Given the description of an element on the screen output the (x, y) to click on. 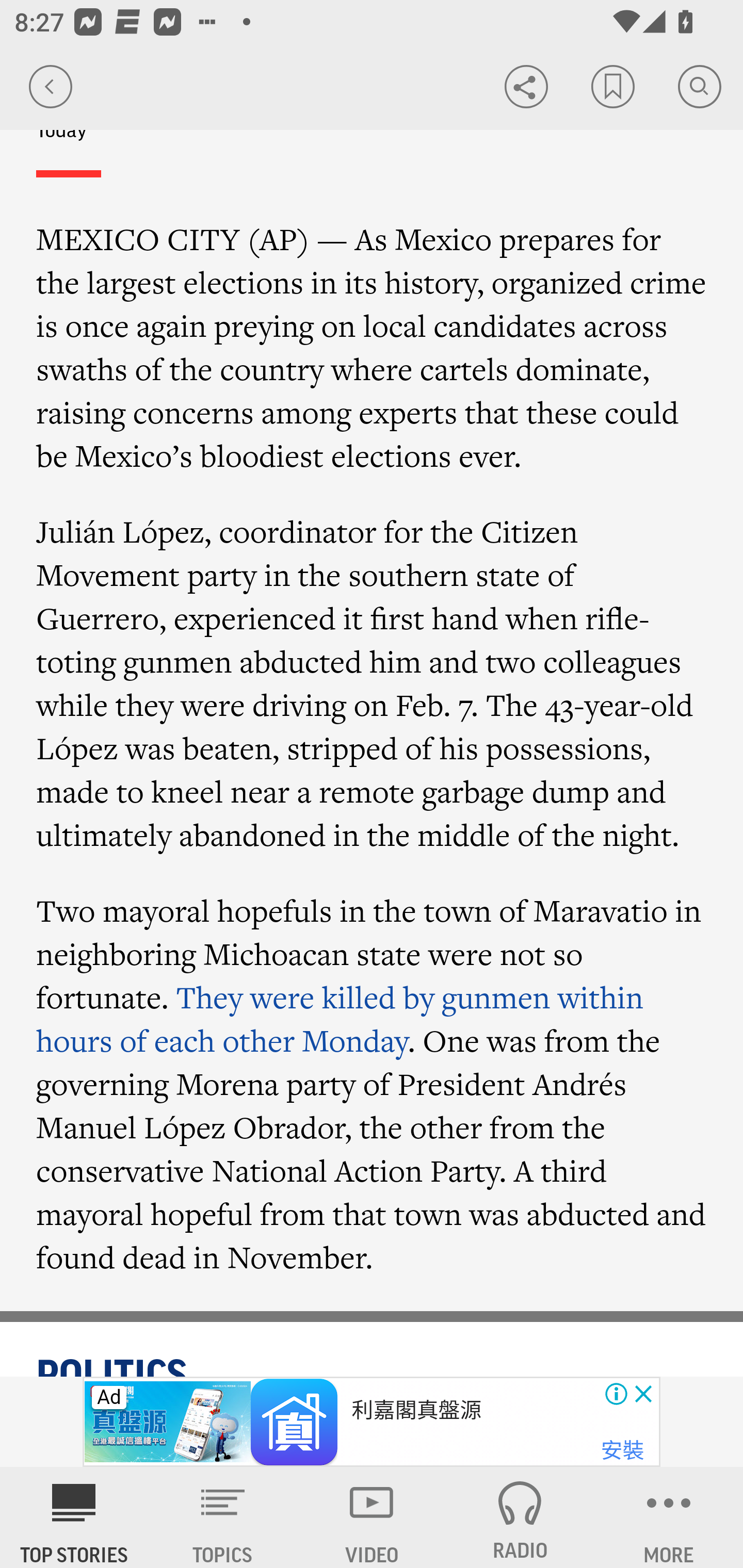
利嘉閣真盤源 (416, 1410)
安裝 (621, 1450)
AP News TOP STORIES (74, 1517)
TOPICS (222, 1517)
VIDEO (371, 1517)
RADIO (519, 1517)
MORE (668, 1517)
